Given the description of an element on the screen output the (x, y) to click on. 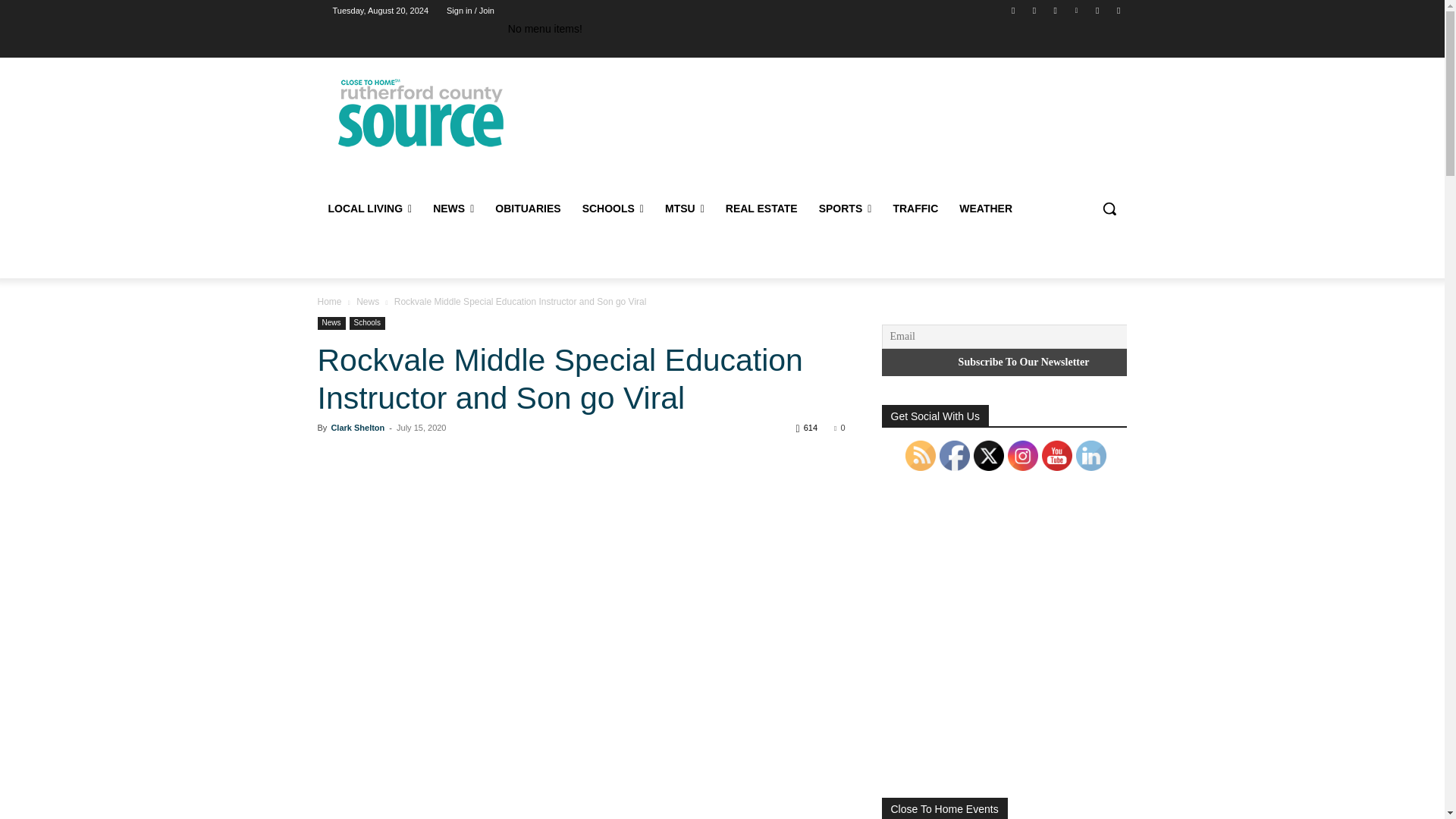
Subscribe To Our Newsletter (1023, 361)
Linkedin (1075, 9)
Twitter (1097, 9)
Flipboard (1034, 9)
Youtube (1117, 9)
Facebook (1013, 9)
Instagram (1055, 9)
